Given the description of an element on the screen output the (x, y) to click on. 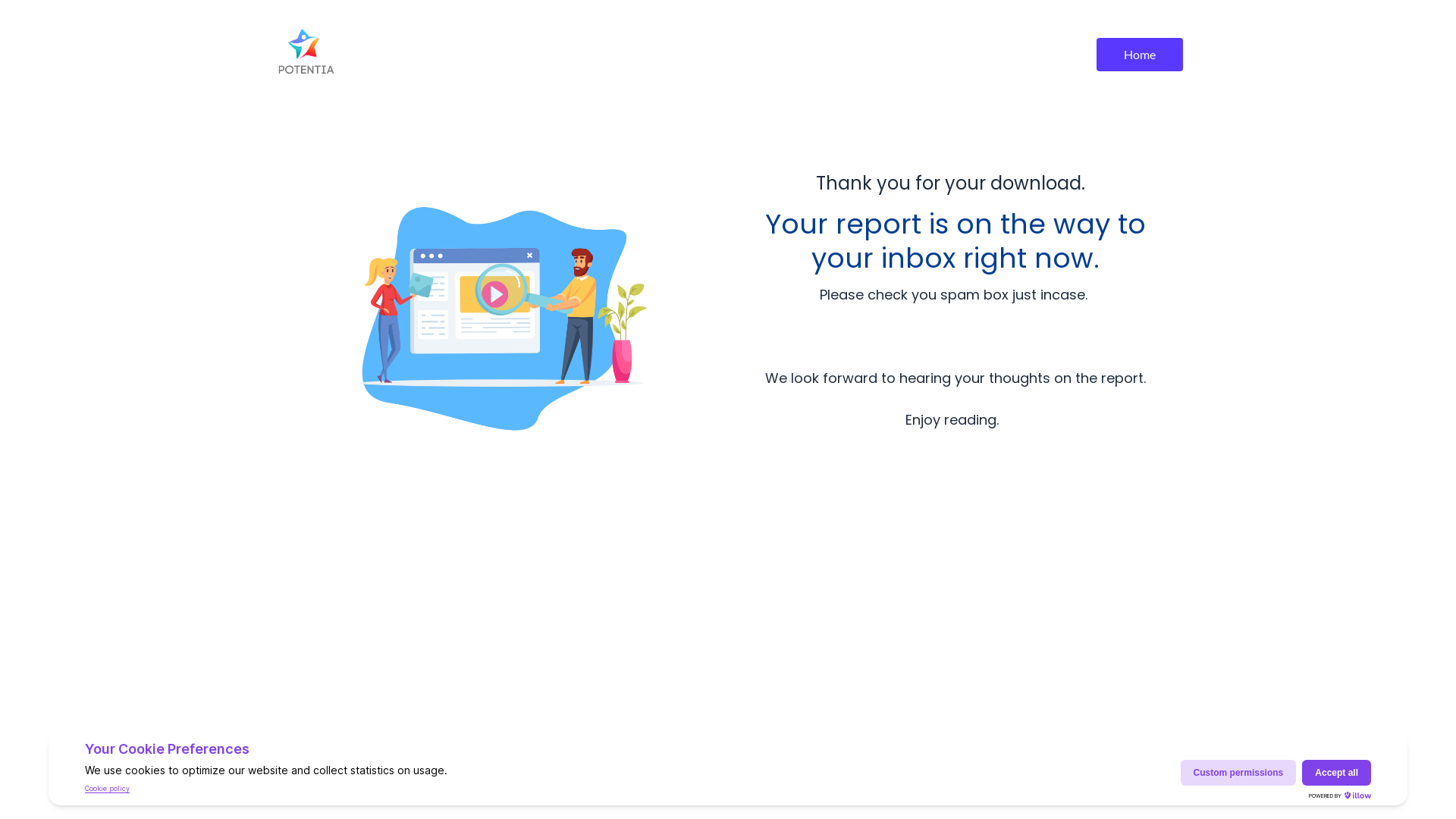
Home Element type: text (1139, 54)
